Given the description of an element on the screen output the (x, y) to click on. 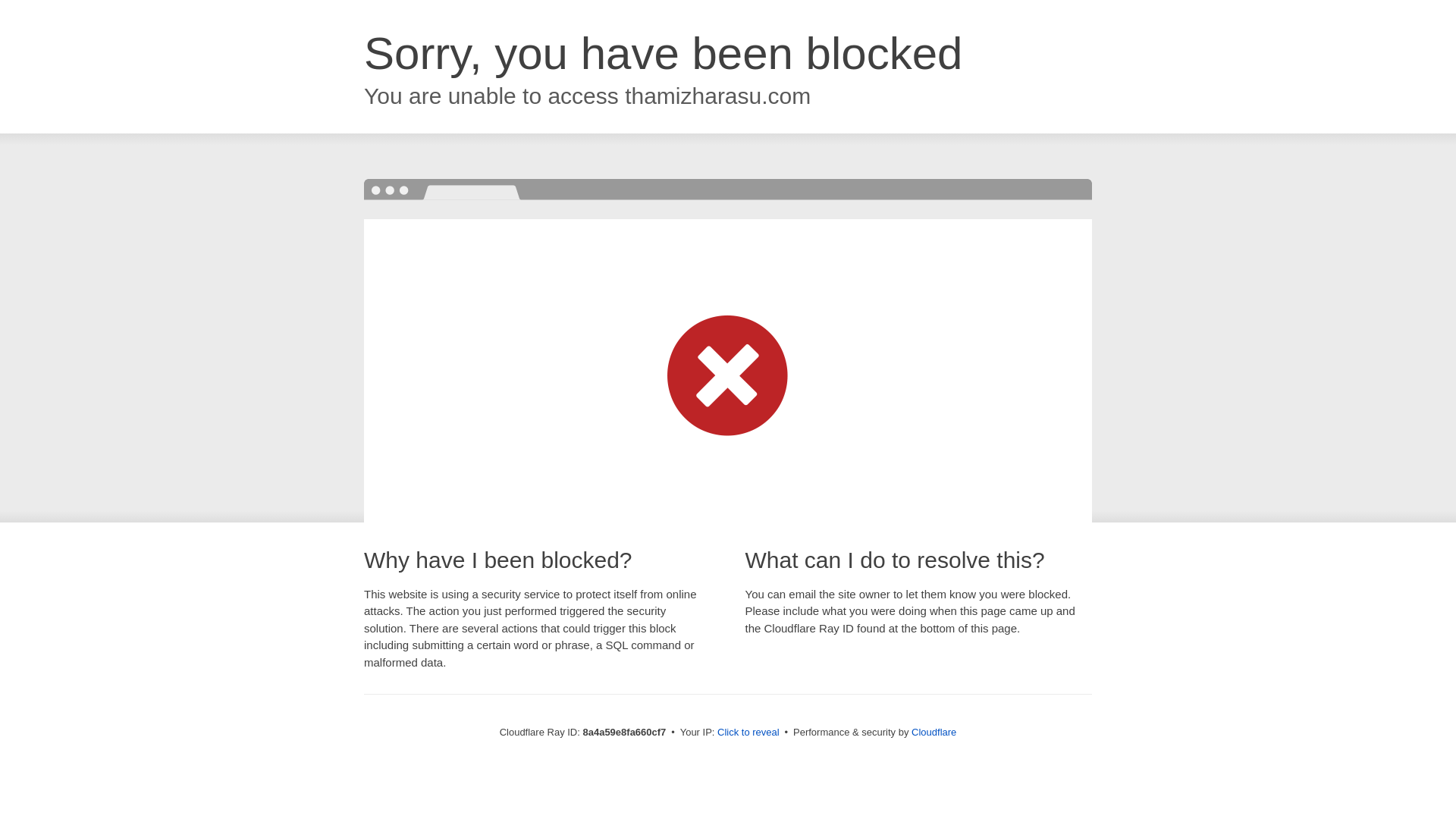
Click to reveal (747, 732)
Cloudflare (933, 731)
